Given the description of an element on the screen output the (x, y) to click on. 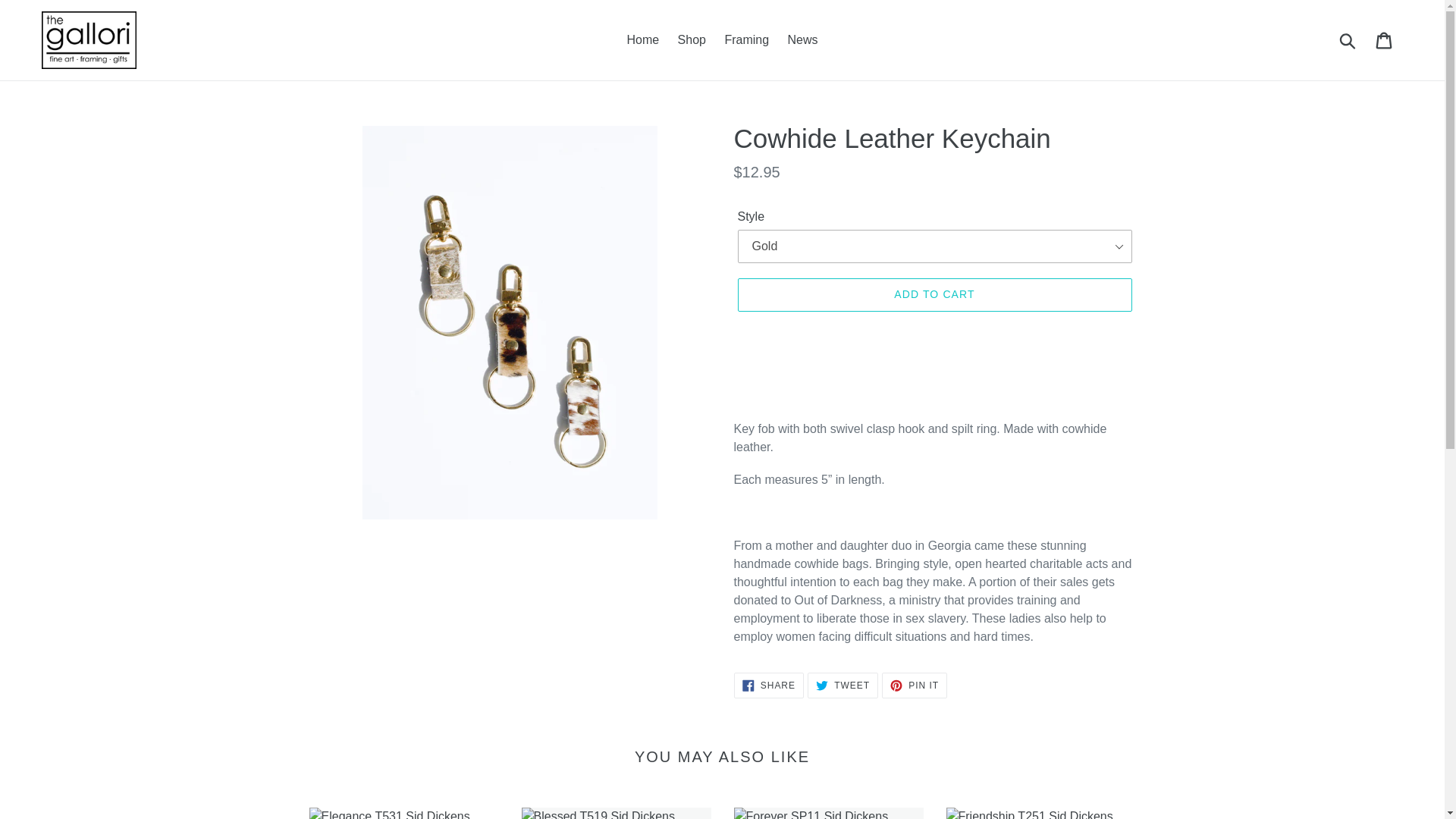
News (768, 685)
Home (802, 39)
Framing (642, 39)
Friendship T251 Sid Dickens Memory Block (842, 685)
Cart (746, 39)
ADD TO CART (1040, 813)
Blessed T519 Sid Dickens Memory Block (1385, 39)
